Given the description of an element on the screen output the (x, y) to click on. 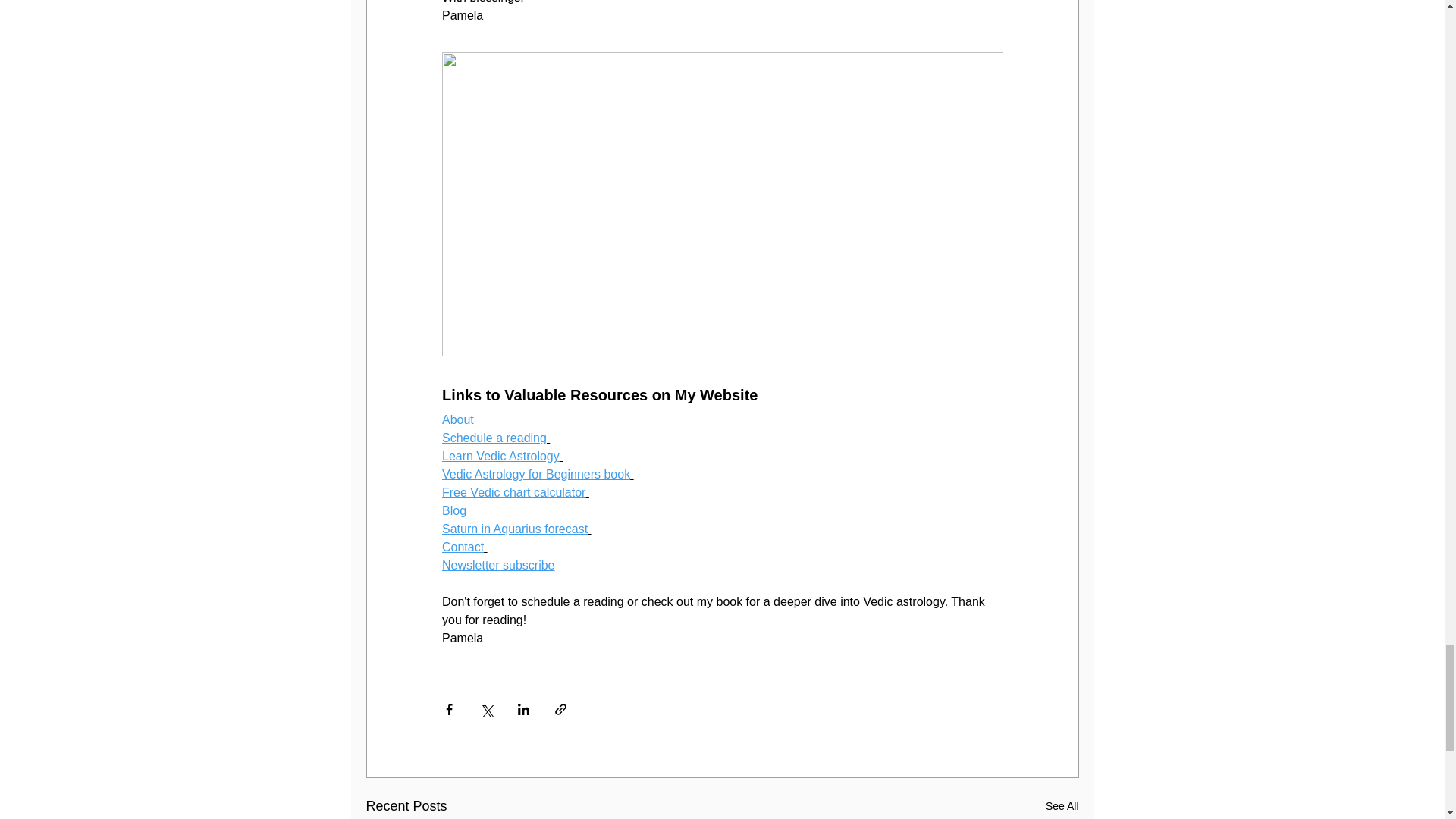
Vedic Astrology for Beginners book (534, 473)
Saturn in Aquarius forecast (513, 528)
Blog (453, 510)
Learn Vedic Astrology (500, 455)
About (457, 419)
Newsletter subscribe (497, 564)
Contact (462, 546)
Free Vedic chart calculator (513, 492)
Schedule a reading (493, 437)
